Given the description of an element on the screen output the (x, y) to click on. 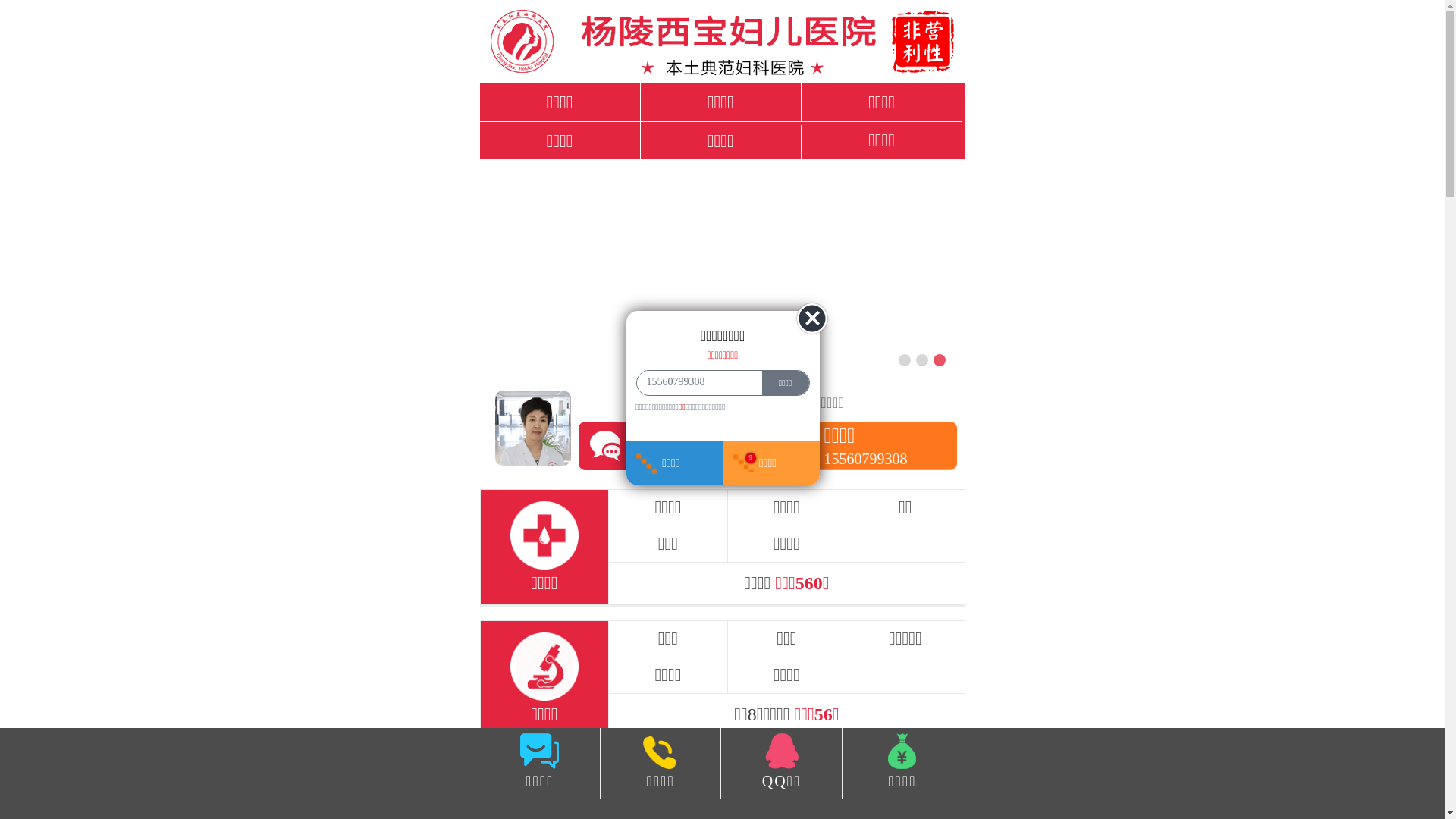
15560799308  Element type: text (695, 381)
